Given the description of an element on the screen output the (x, y) to click on. 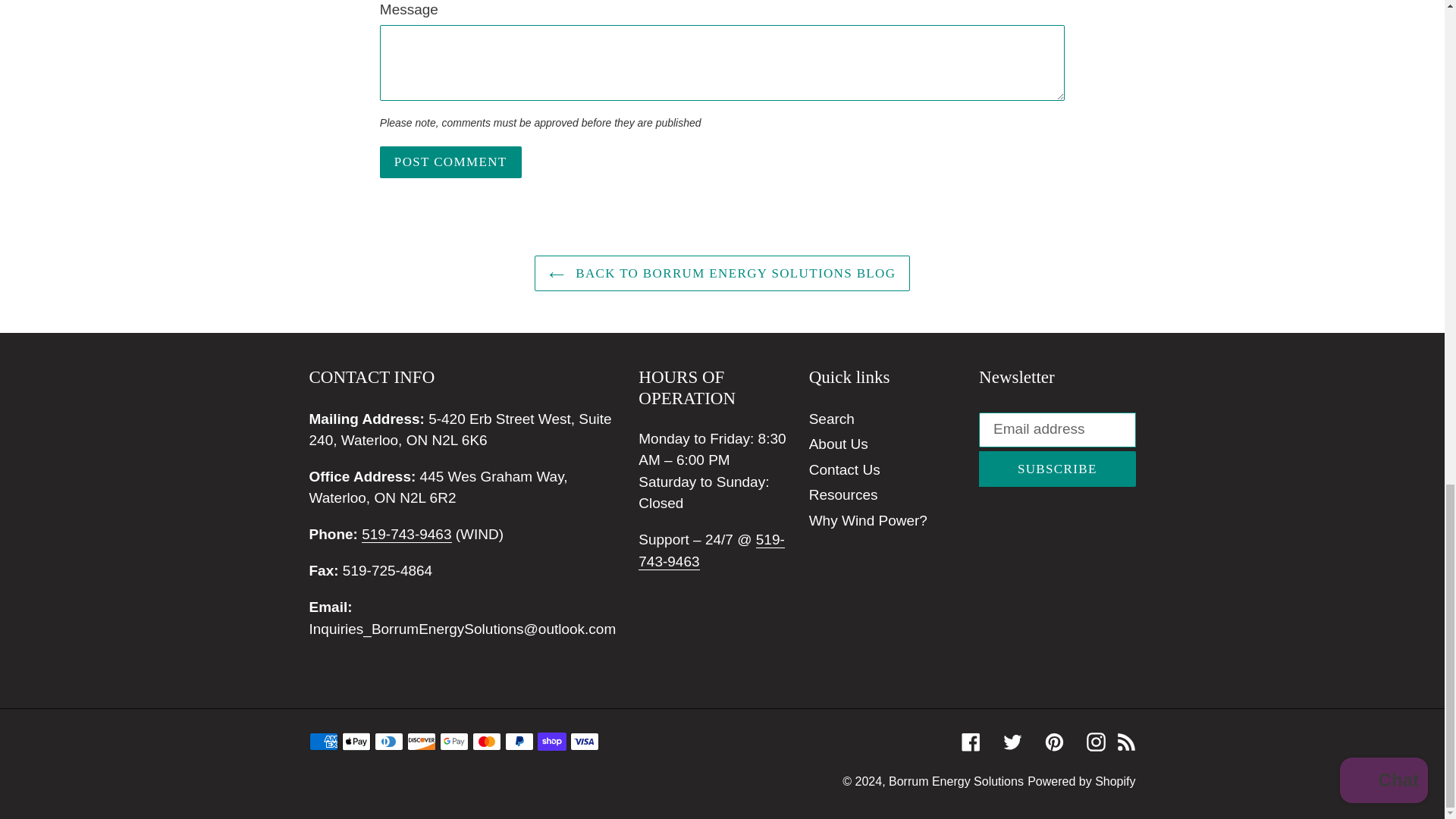
Post comment (450, 162)
